Given the description of an element on the screen output the (x, y) to click on. 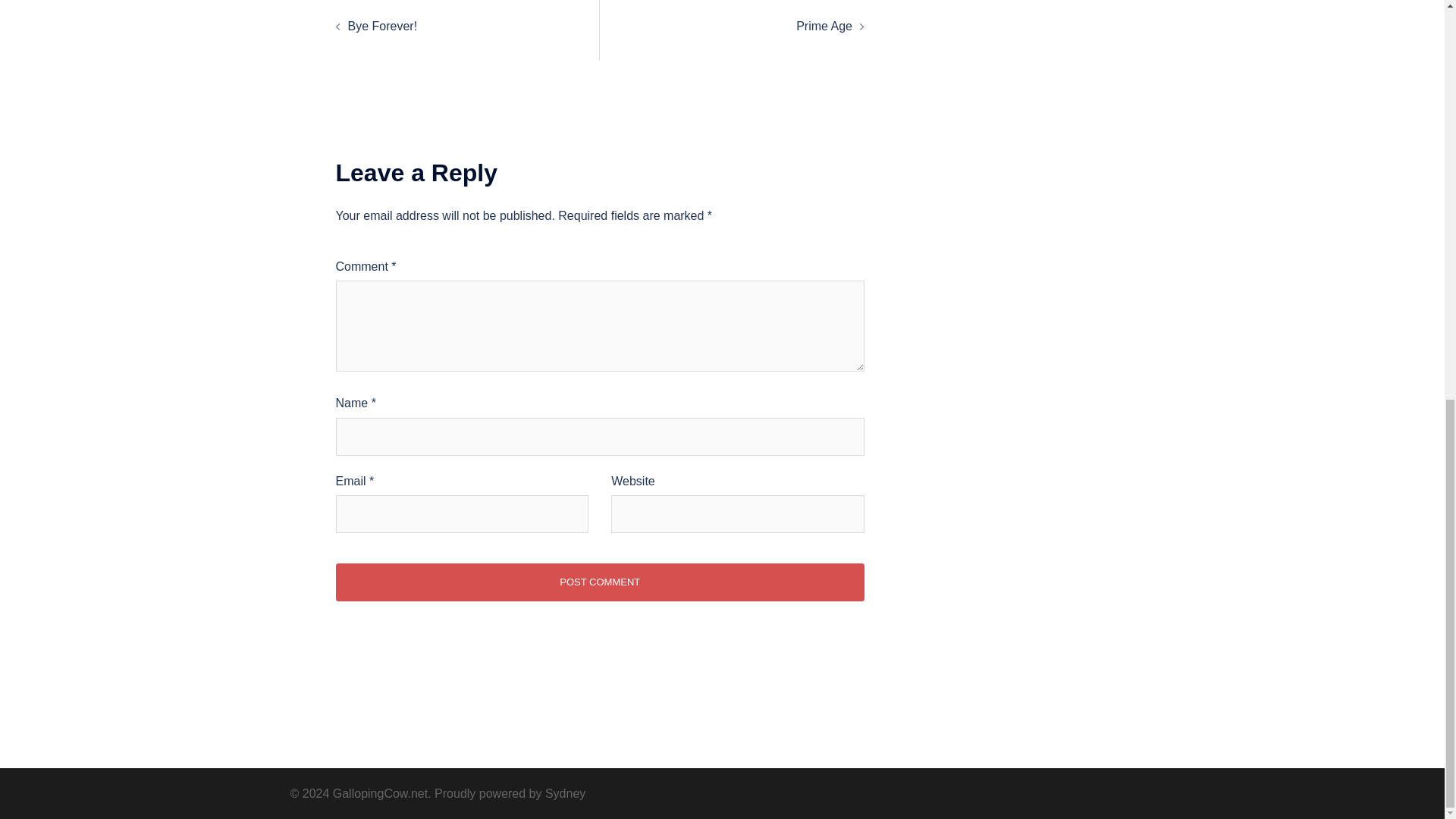
Prime Age (823, 25)
Post Comment (599, 582)
Post Comment (599, 582)
Bye Forever! (381, 25)
Sydney (564, 793)
